Given the description of an element on the screen output the (x, y) to click on. 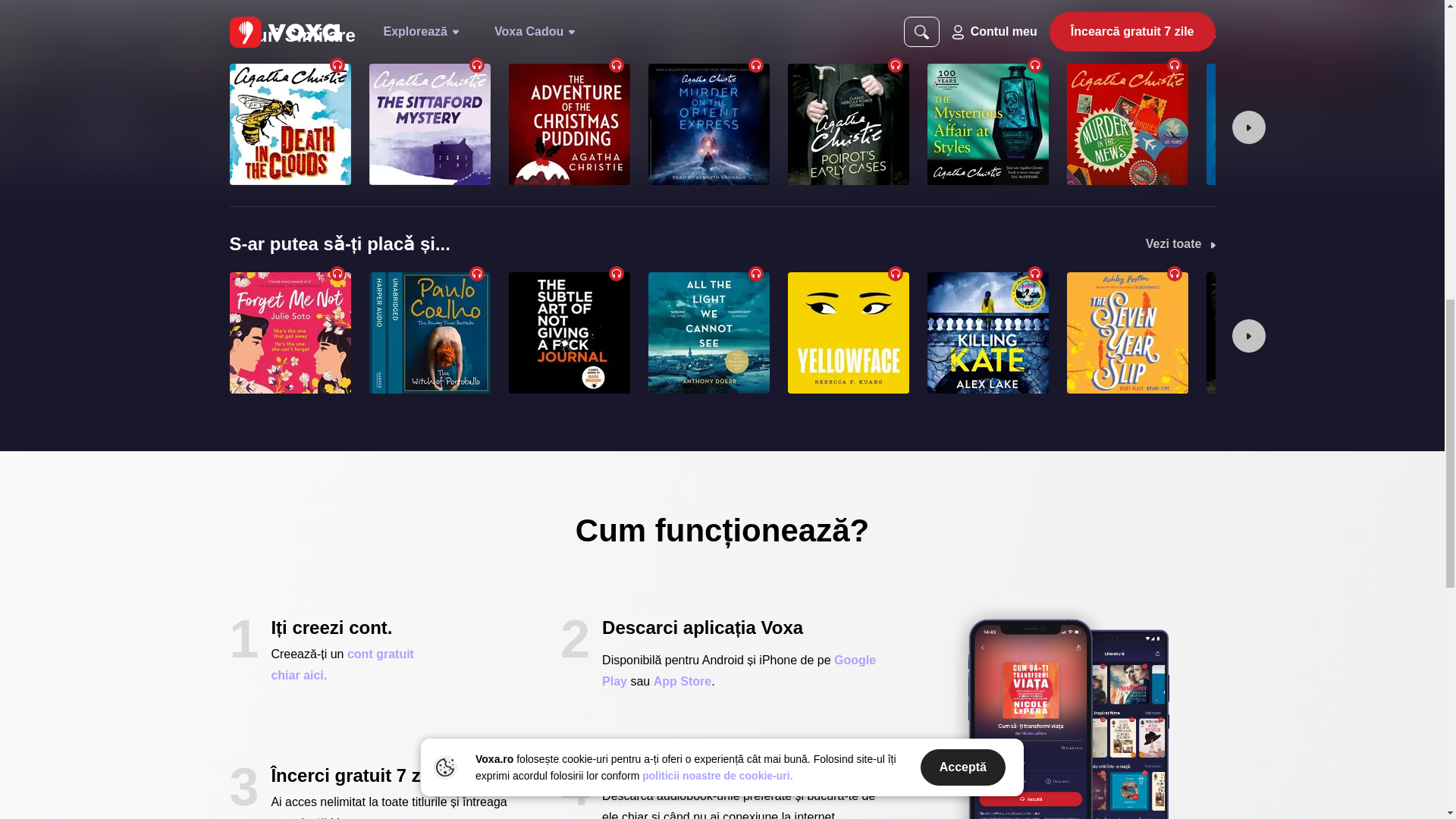
Vezi toate (1180, 35)
